Given the description of an element on the screen output the (x, y) to click on. 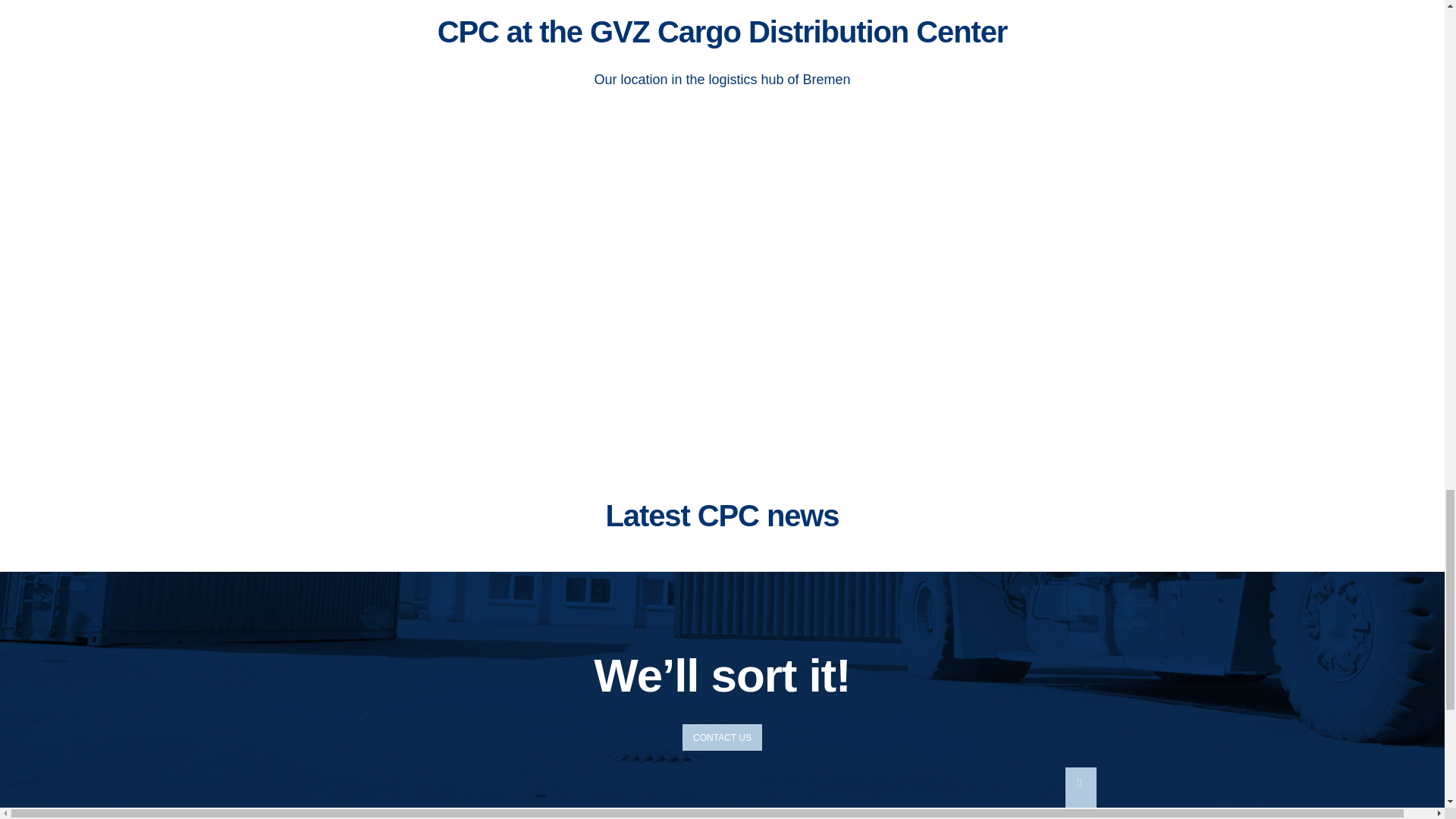
CONTACT US (721, 737)
